Given the description of an element on the screen output the (x, y) to click on. 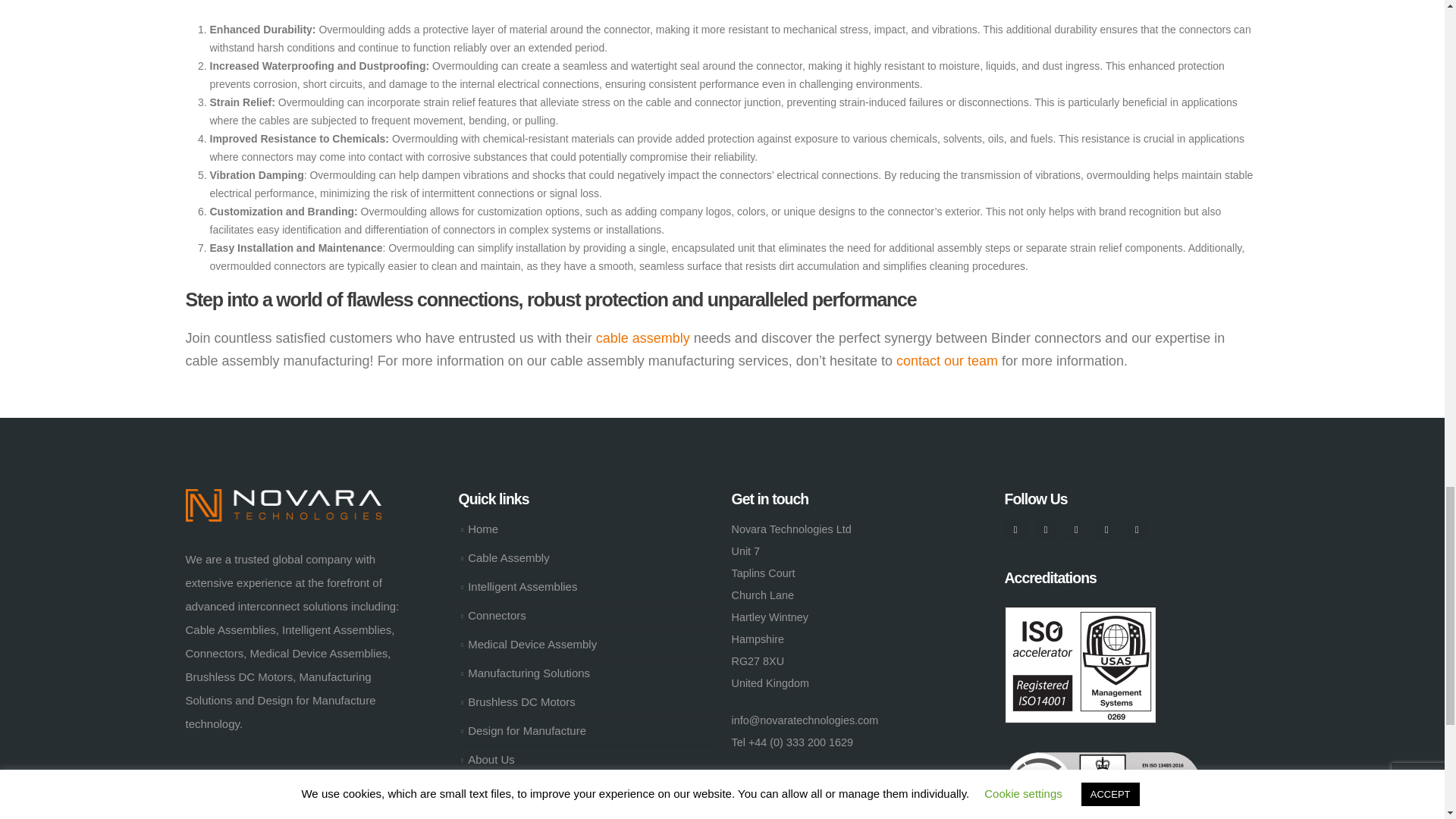
Instagram (1107, 530)
Youtube (1076, 530)
novara-main-logox2 (282, 504)
LinkedIn (1136, 530)
Facebook (1015, 530)
iso-accel-2 (1080, 664)
Twitter (1046, 530)
